Given the description of an element on the screen output the (x, y) to click on. 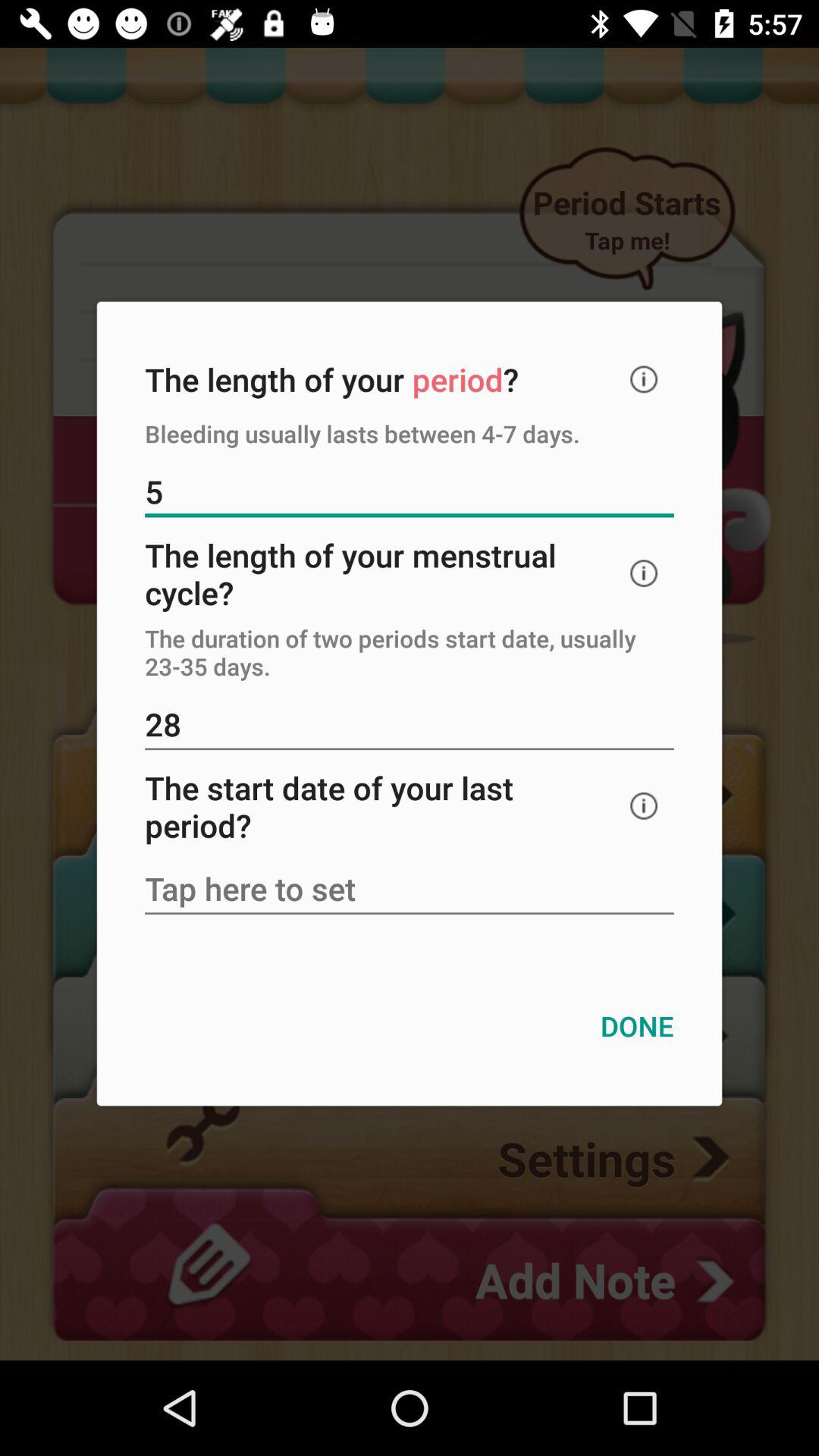
open item below the the duration of icon (409, 726)
